Given the description of an element on the screen output the (x, y) to click on. 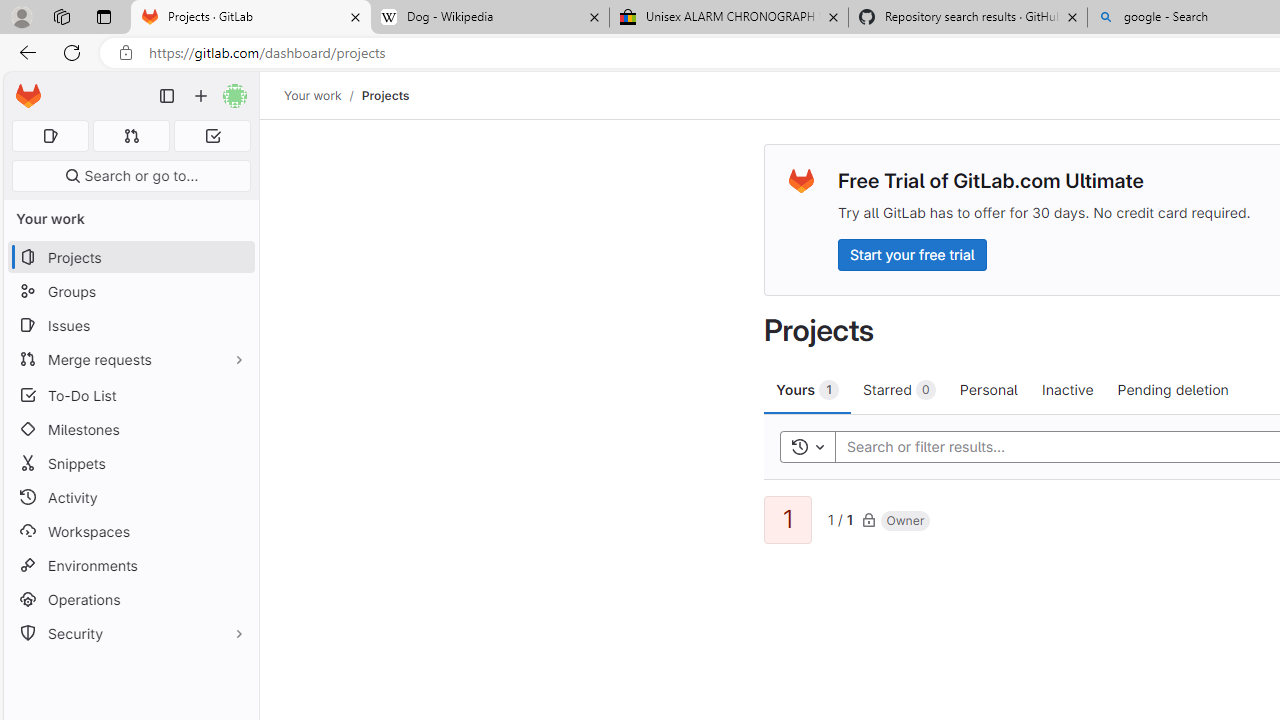
Environments (130, 564)
To-Do List (130, 394)
Create new... (201, 96)
Security (130, 633)
Environments (130, 564)
Dog - Wikipedia (490, 17)
